Given the description of an element on the screen output the (x, y) to click on. 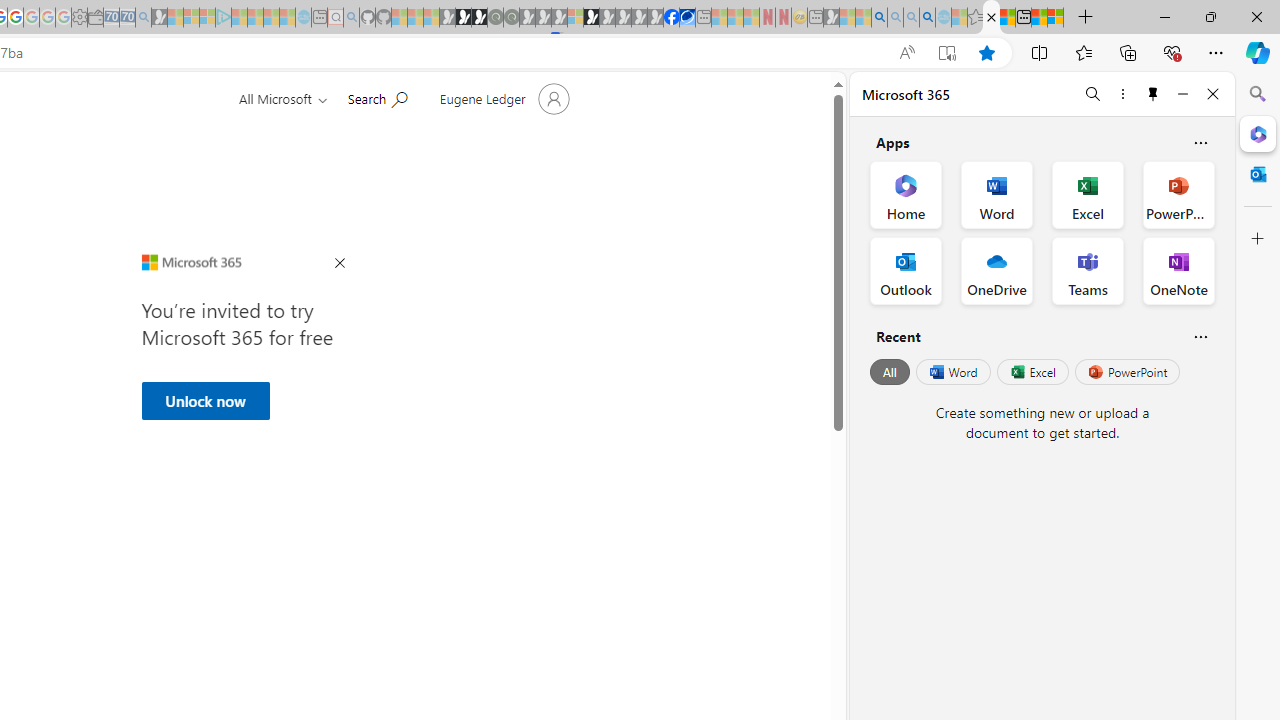
Bing AI - Search (879, 17)
Aberdeen, Hong Kong SAR weather forecast | Microsoft Weather (1007, 17)
Word Office App (996, 194)
Close Microsoft 365 pane (1258, 133)
PowerPoint Office App (1178, 194)
MSN - Sleeping (831, 17)
